Given the description of an element on the screen output the (x, y) to click on. 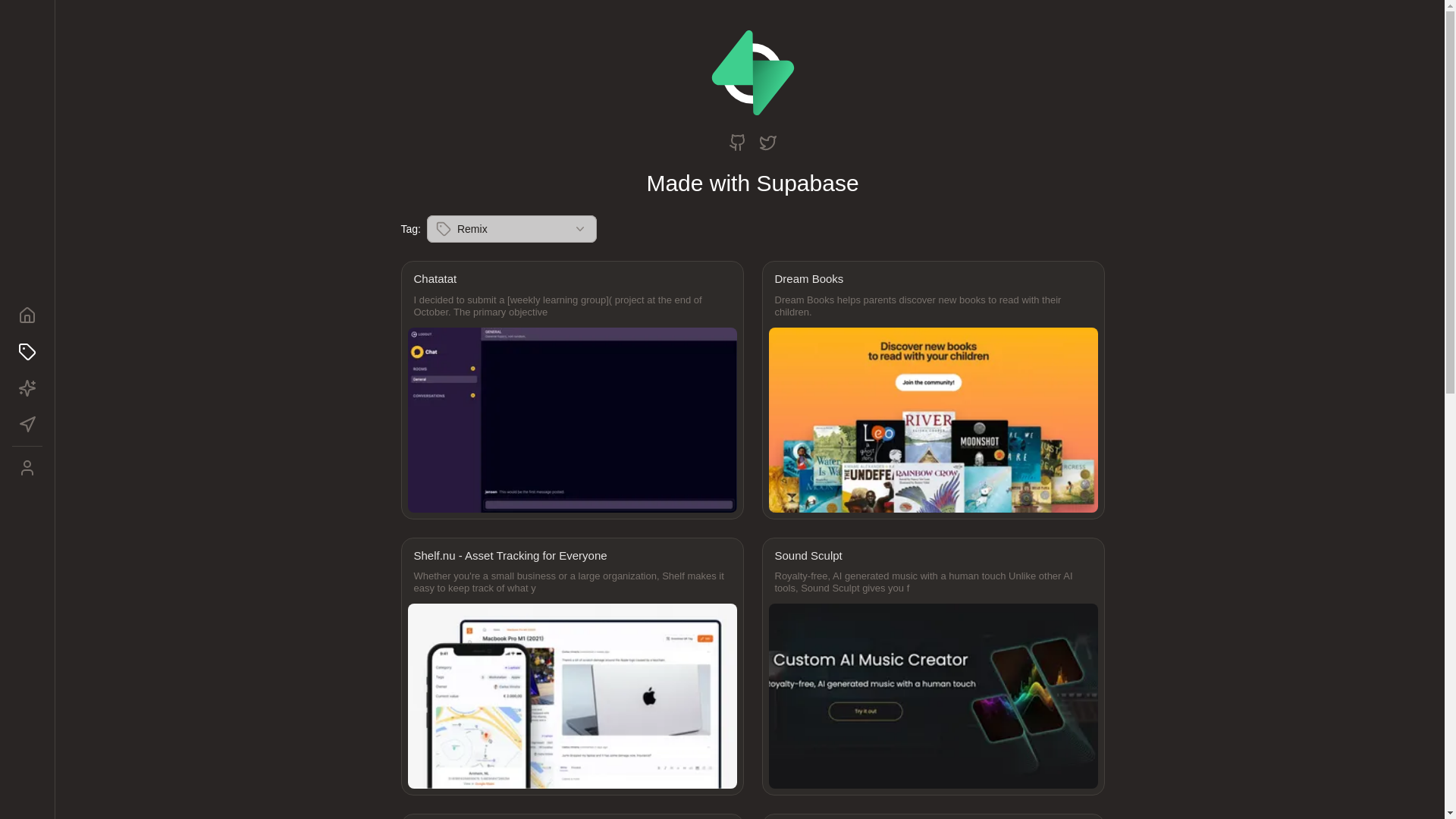
Remix (511, 228)
